Given the description of an element on the screen output the (x, y) to click on. 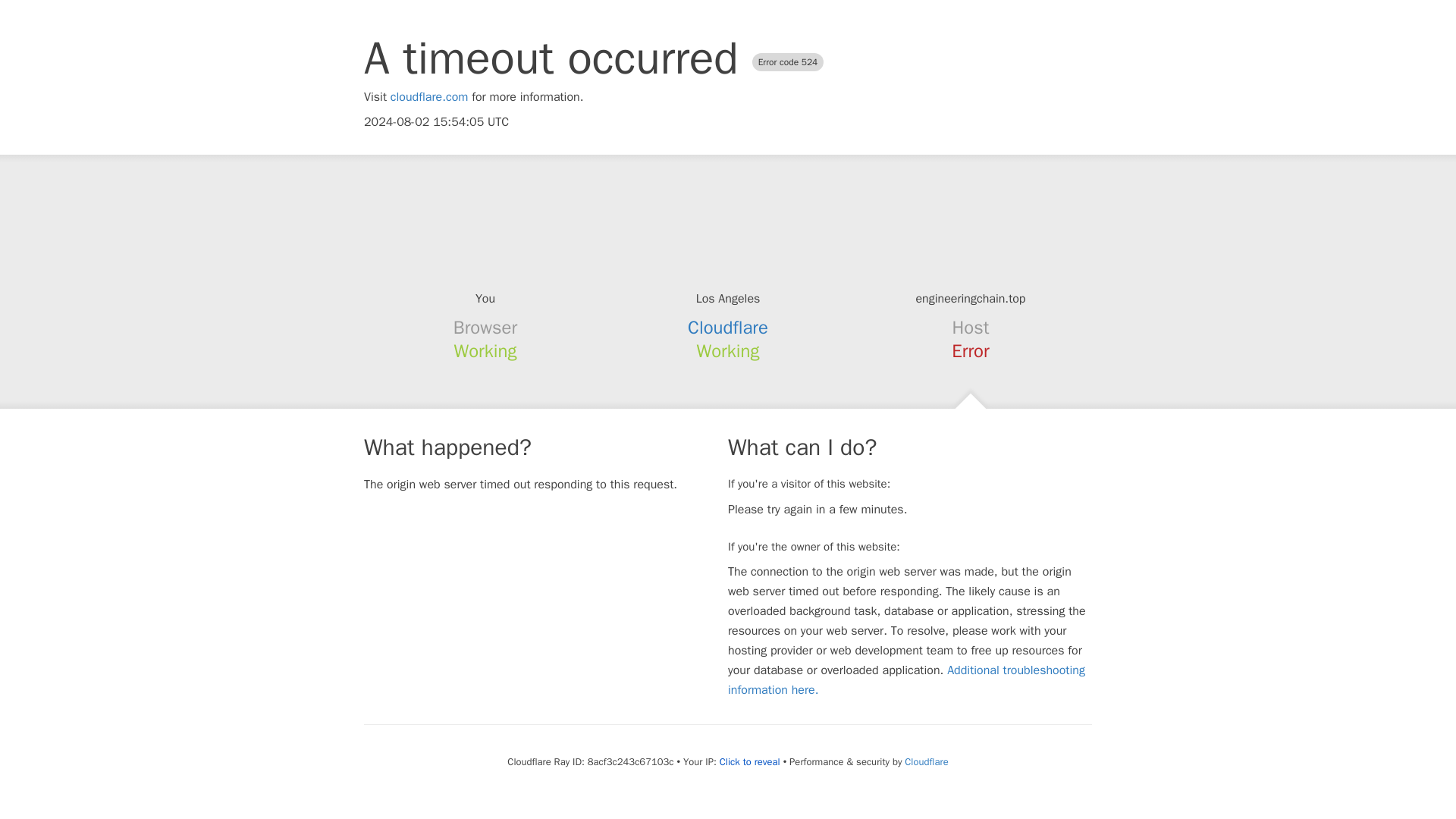
Click to reveal (749, 762)
Cloudflare (925, 761)
cloudflare.com (429, 96)
Cloudflare (727, 327)
Additional troubleshooting information here. (906, 679)
